Given the description of an element on the screen output the (x, y) to click on. 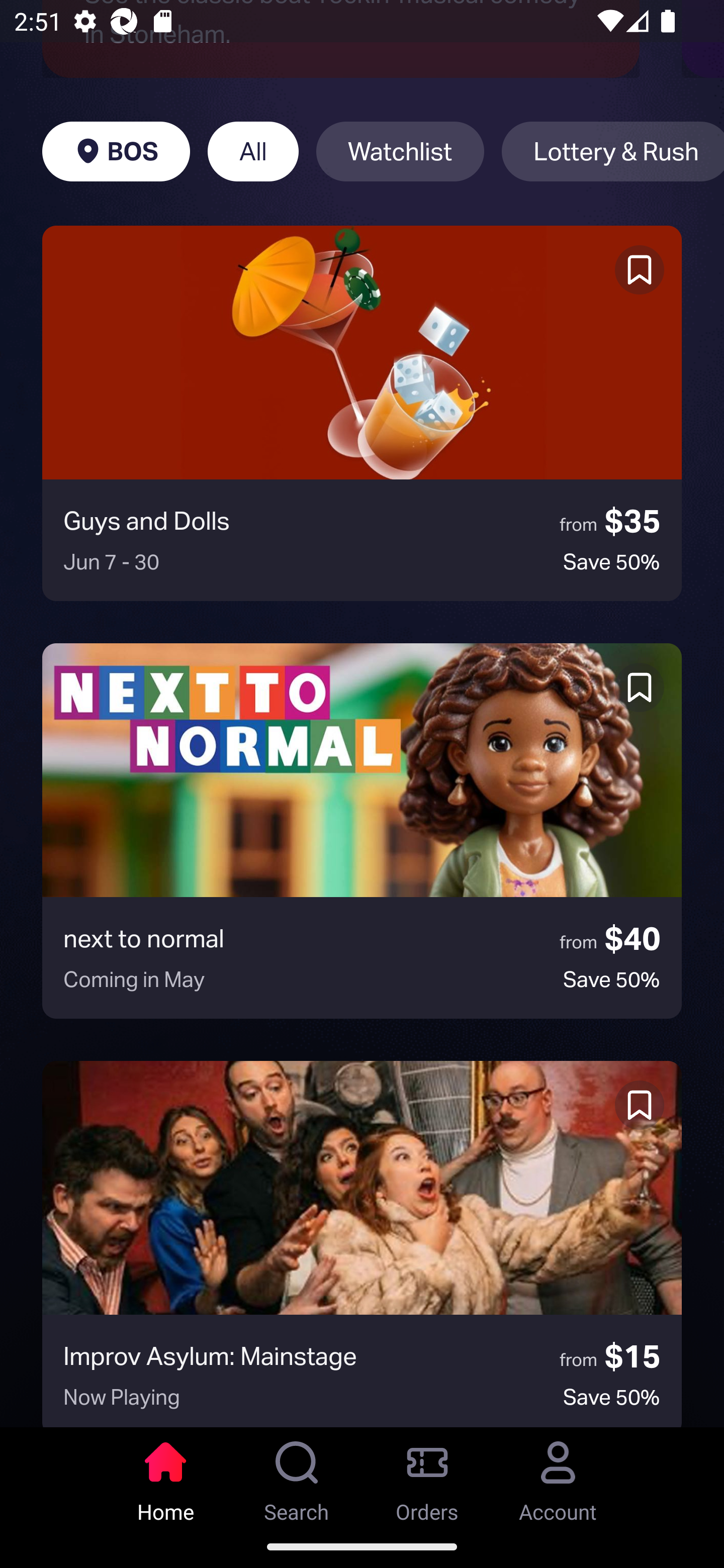
BOS (115, 151)
All (252, 151)
Watchlist (400, 151)
Lottery & Rush (612, 151)
Guys and Dolls from $35 Jun 7 - 30 Save 50% (361, 412)
next to normal from $40 Coming in May Save 50% (361, 830)
Search (296, 1475)
Orders (427, 1475)
Account (558, 1475)
